Given the description of an element on the screen output the (x, y) to click on. 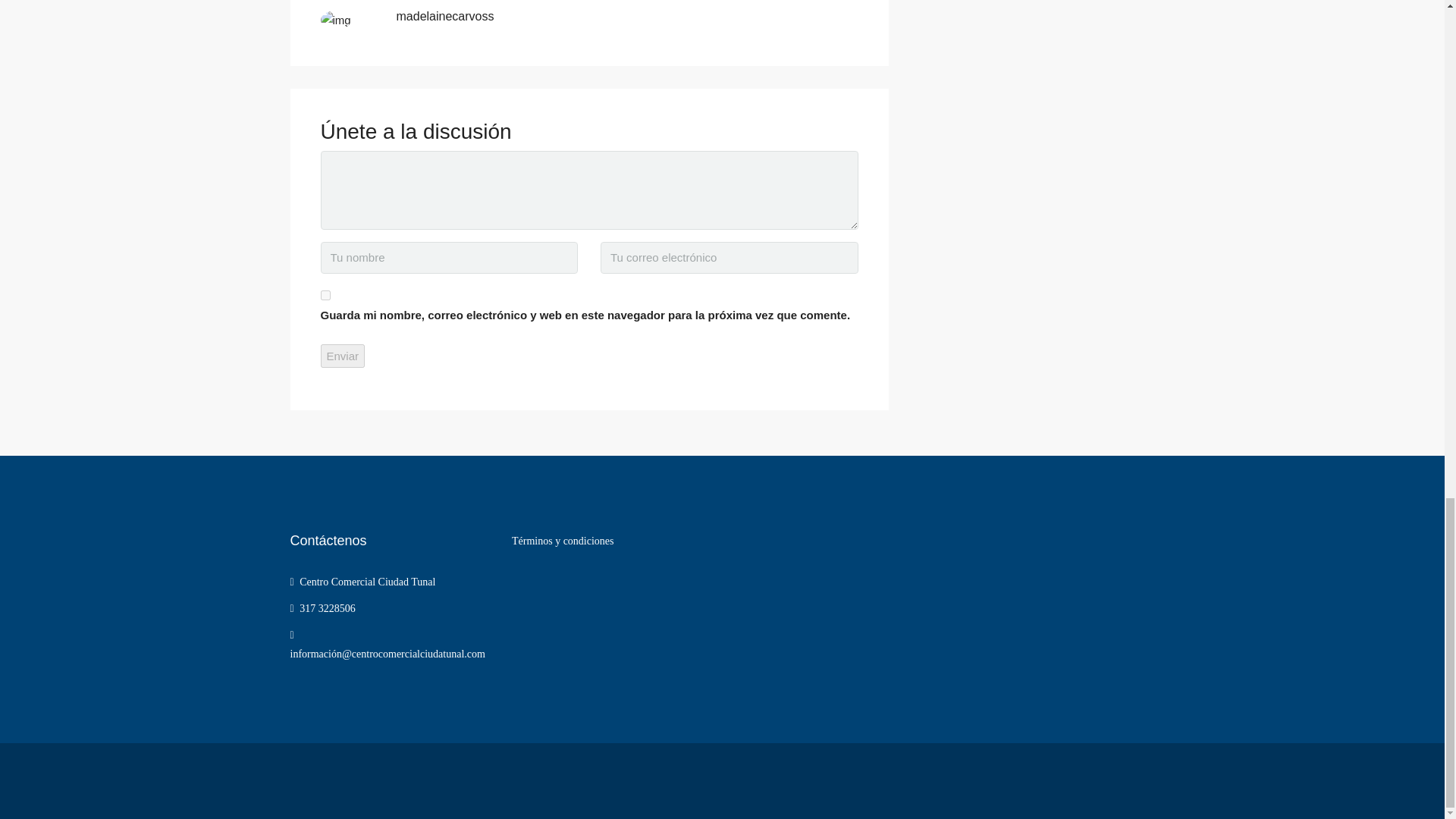
yes (325, 295)
Enviar (342, 355)
Enviar (342, 355)
